Given the description of an element on the screen output the (x, y) to click on. 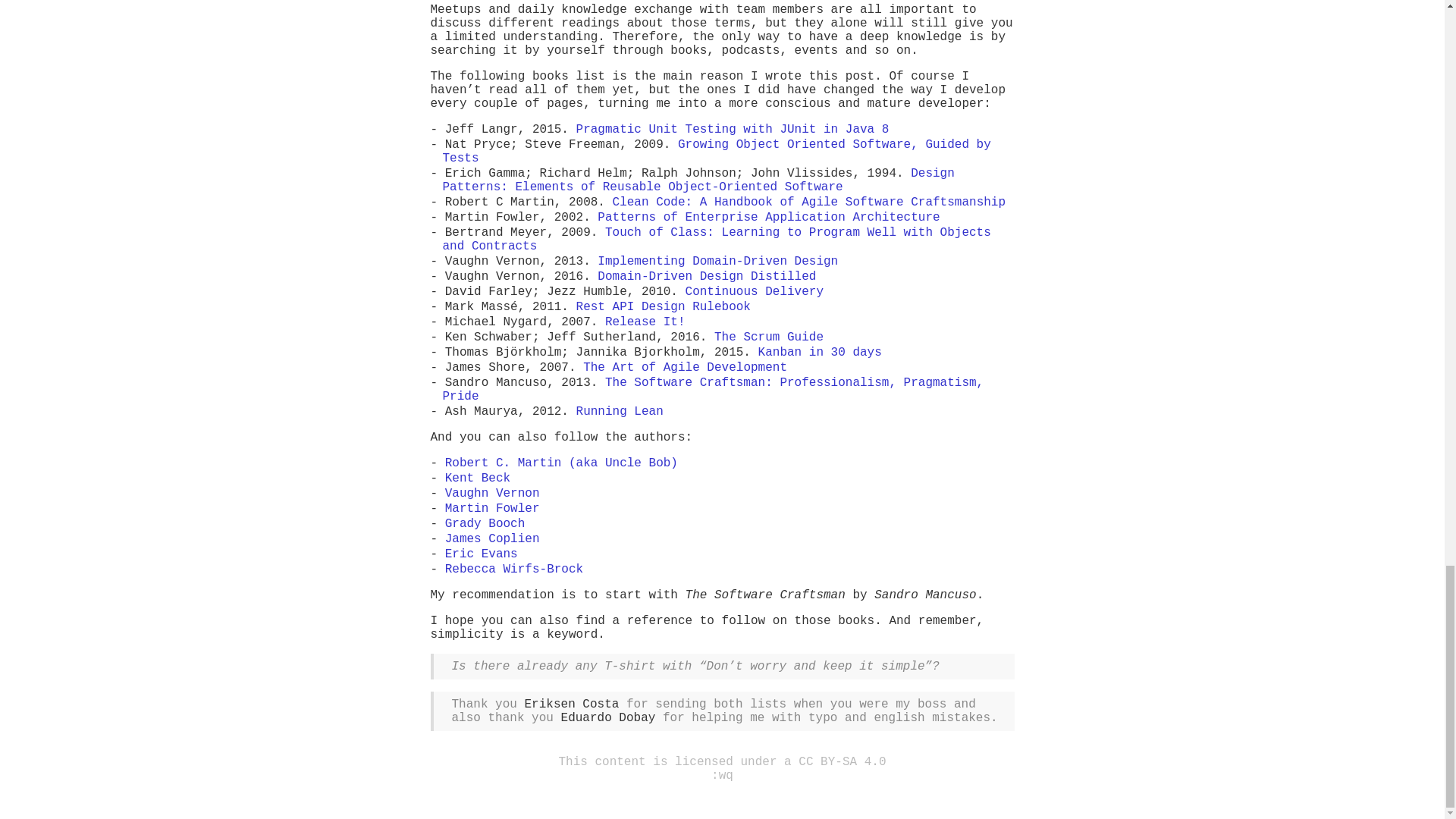
The Art of Agile Development (685, 367)
:wq (722, 775)
Martin Fowler (492, 508)
Release It! (645, 322)
Kent Beck (478, 478)
James Coplien (492, 539)
Domain-Driven Design Distilled (705, 276)
Growing Object Oriented Software, Guided by Tests (716, 151)
Kanban in 30 days (820, 352)
